Given the description of an element on the screen output the (x, y) to click on. 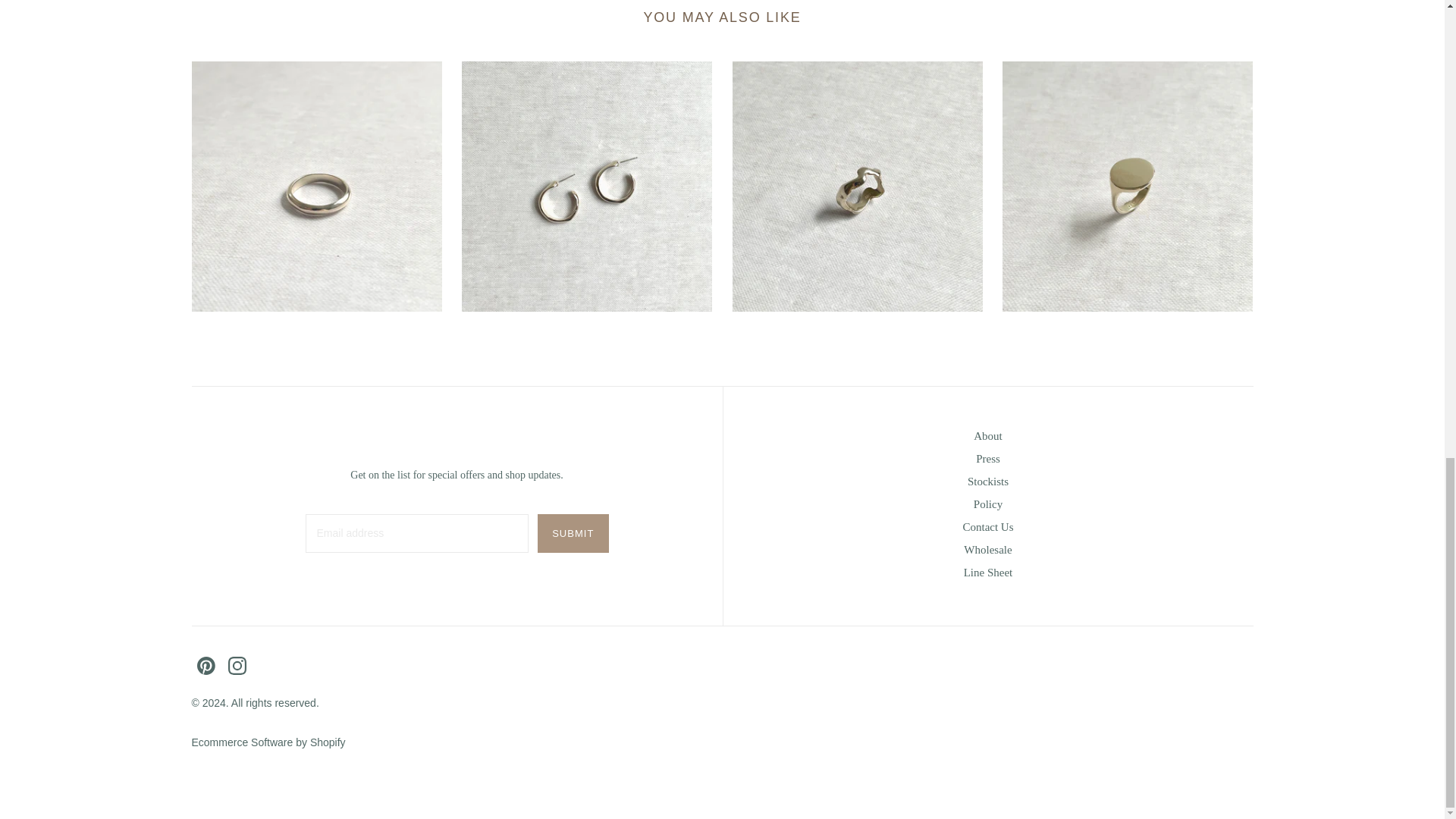
Submit (572, 533)
